Given the description of an element on the screen output the (x, y) to click on. 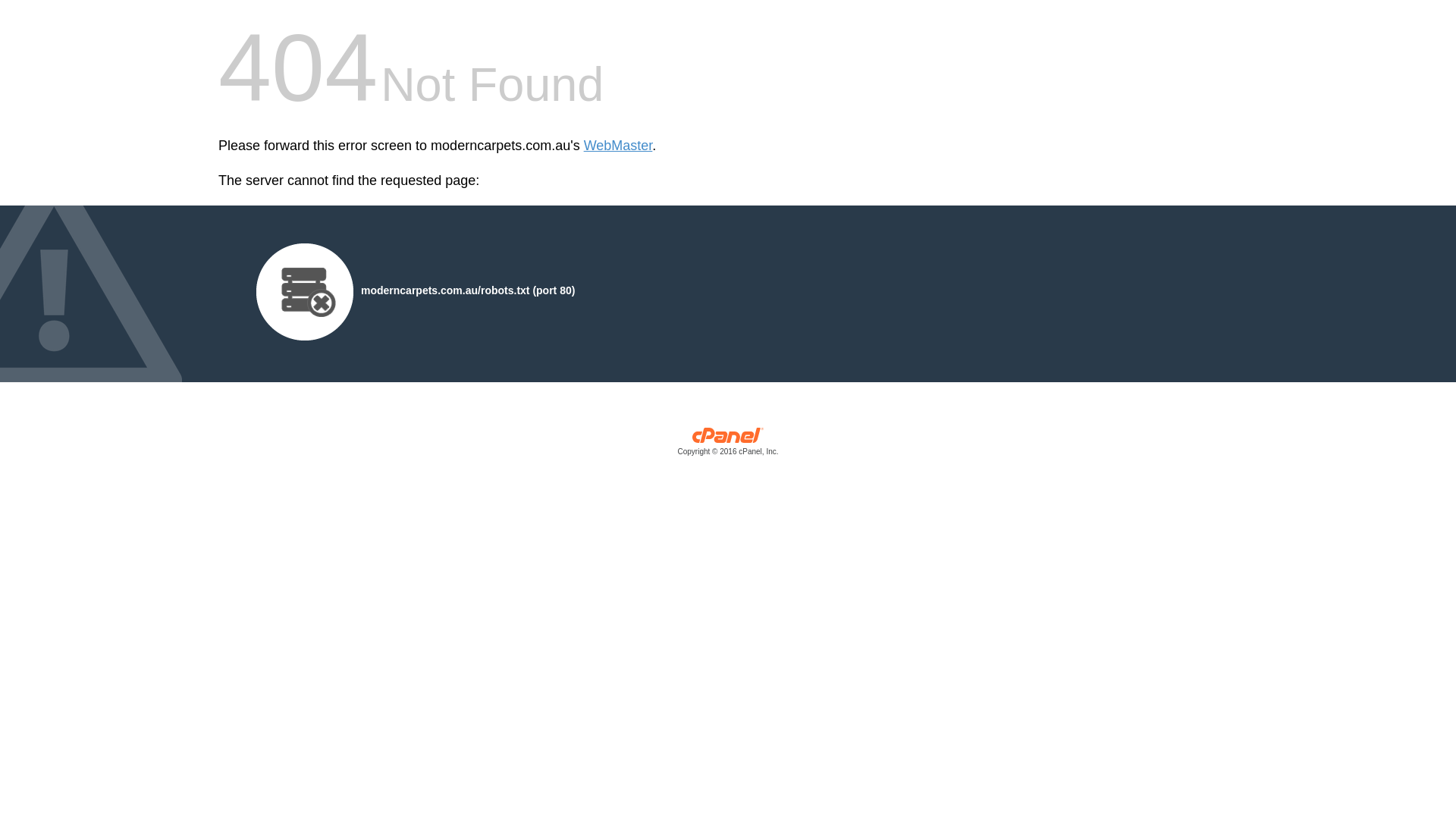
WebMaster Element type: text (617, 145)
